Given the description of an element on the screen output the (x, y) to click on. 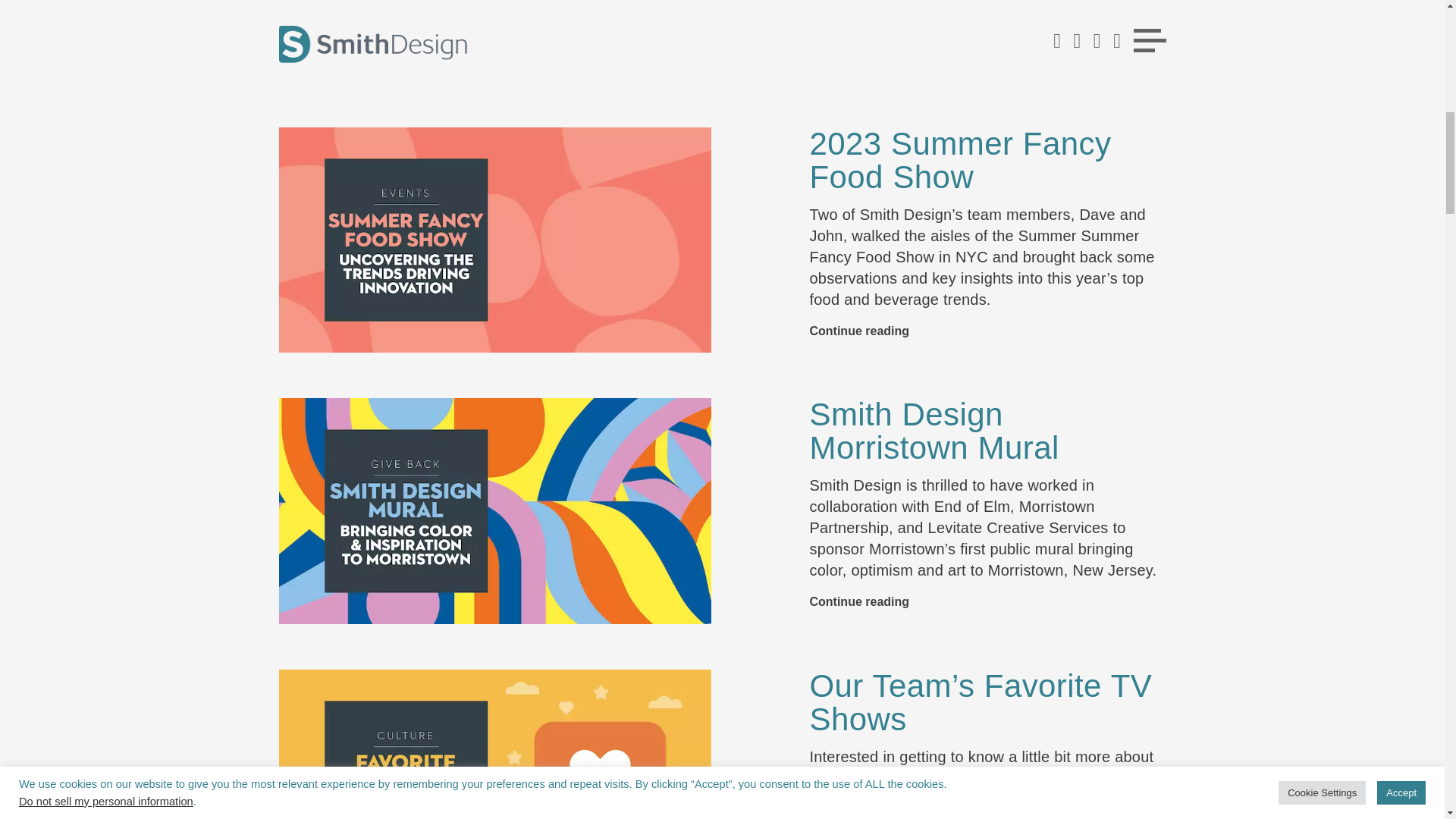
Continue reading (858, 330)
2023 Summer Fancy Food Show (959, 160)
Smith Design Morristown Mural (933, 431)
Continue reading (858, 601)
Continue reading (858, 68)
